Given the description of an element on the screen output the (x, y) to click on. 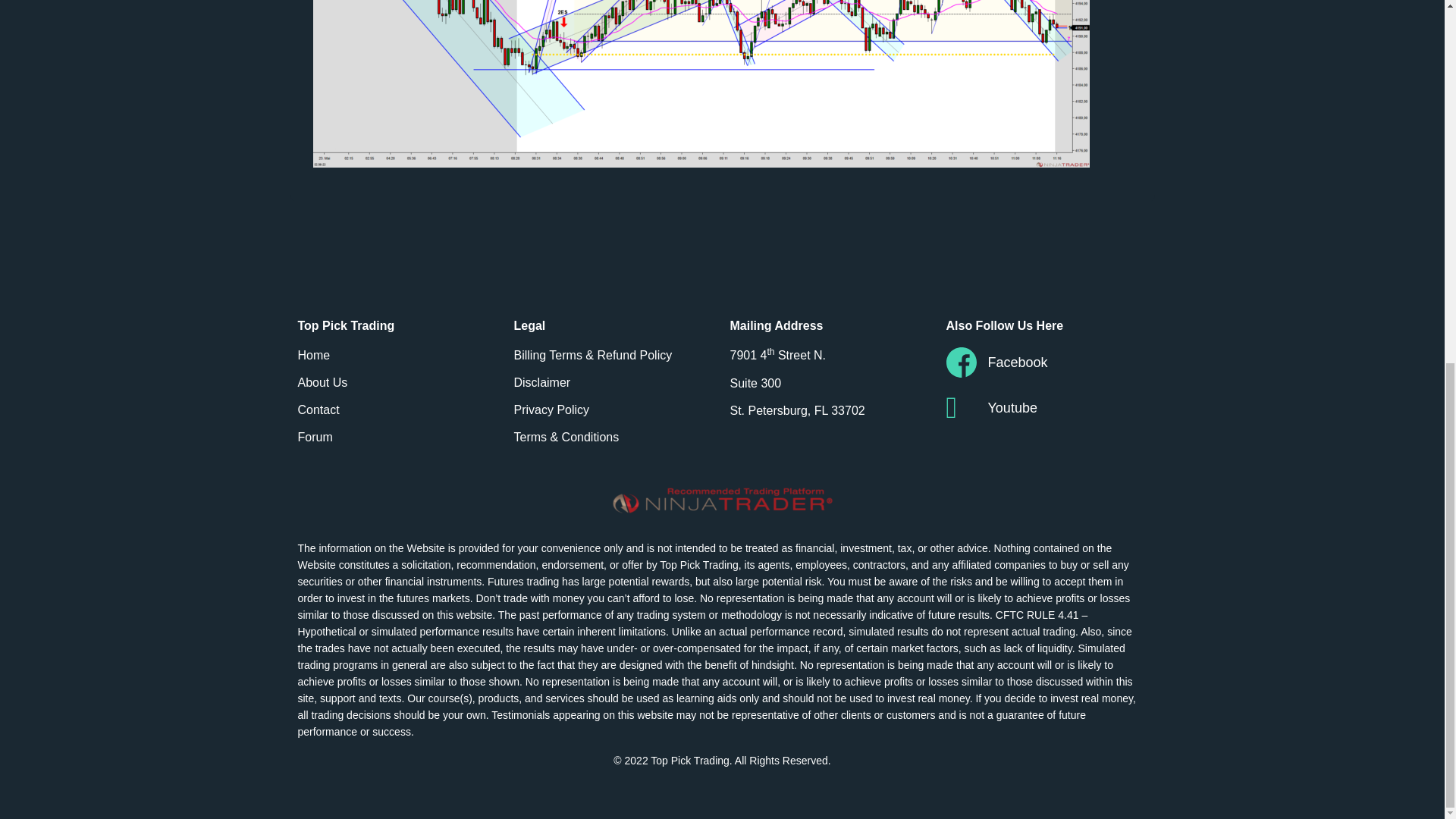
About Us (397, 382)
learn morecode (530, 731)
Facebook (1046, 362)
Youtube (1046, 408)
learn morecode (453, 731)
Home (397, 355)
Privacy Policy (613, 410)
Disclaimer (613, 382)
Contact (397, 410)
Forum (397, 437)
